Given the description of an element on the screen output the (x, y) to click on. 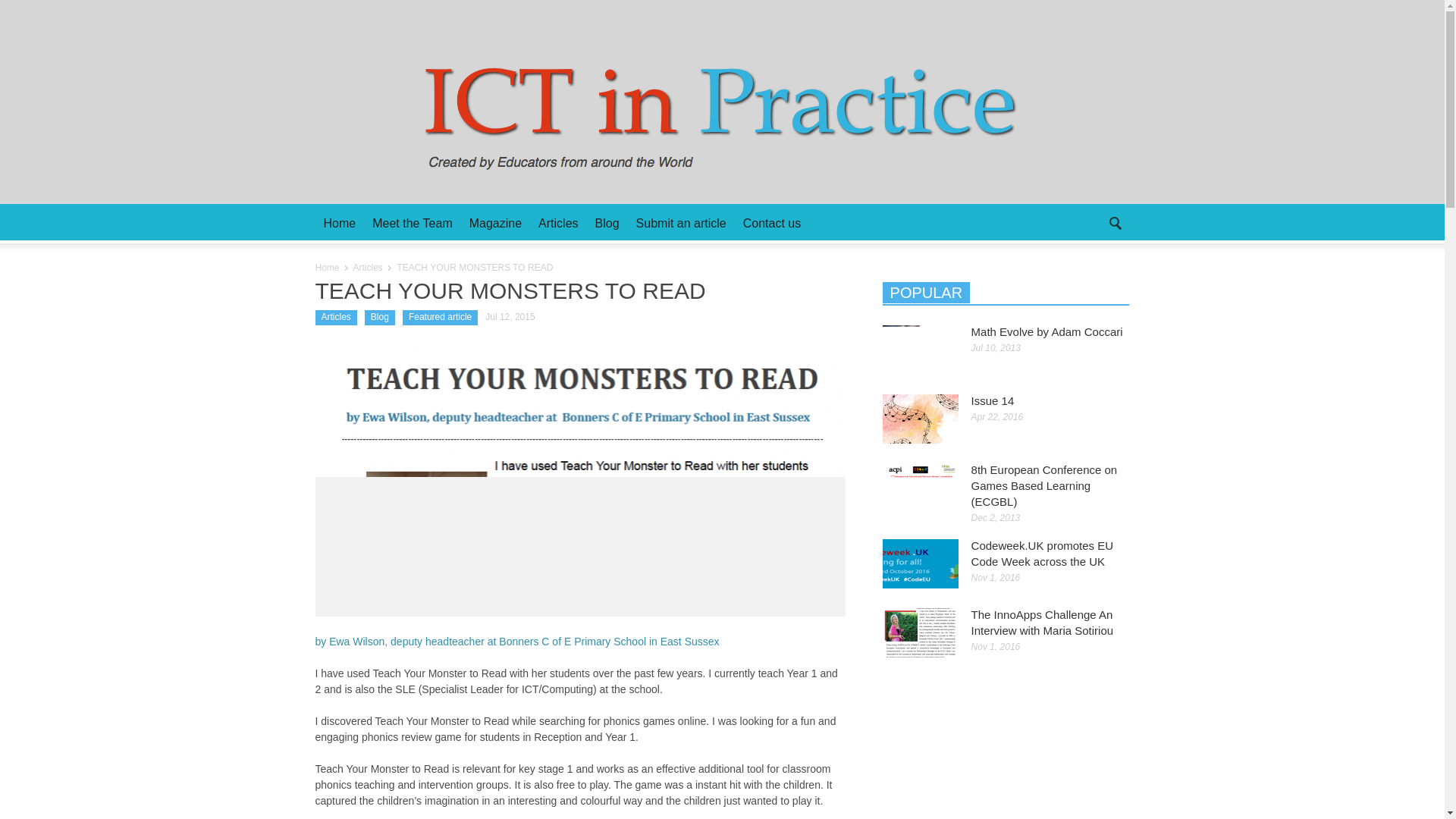
Submit an article (681, 223)
Articles (557, 223)
Contact us (772, 223)
Blog (379, 317)
Home (327, 267)
Featured article (440, 317)
Math Evolve by Adam Coccari (1046, 331)
Home (340, 223)
Issue 14 (992, 400)
Meet the Team (412, 223)
